Given the description of an element on the screen output the (x, y) to click on. 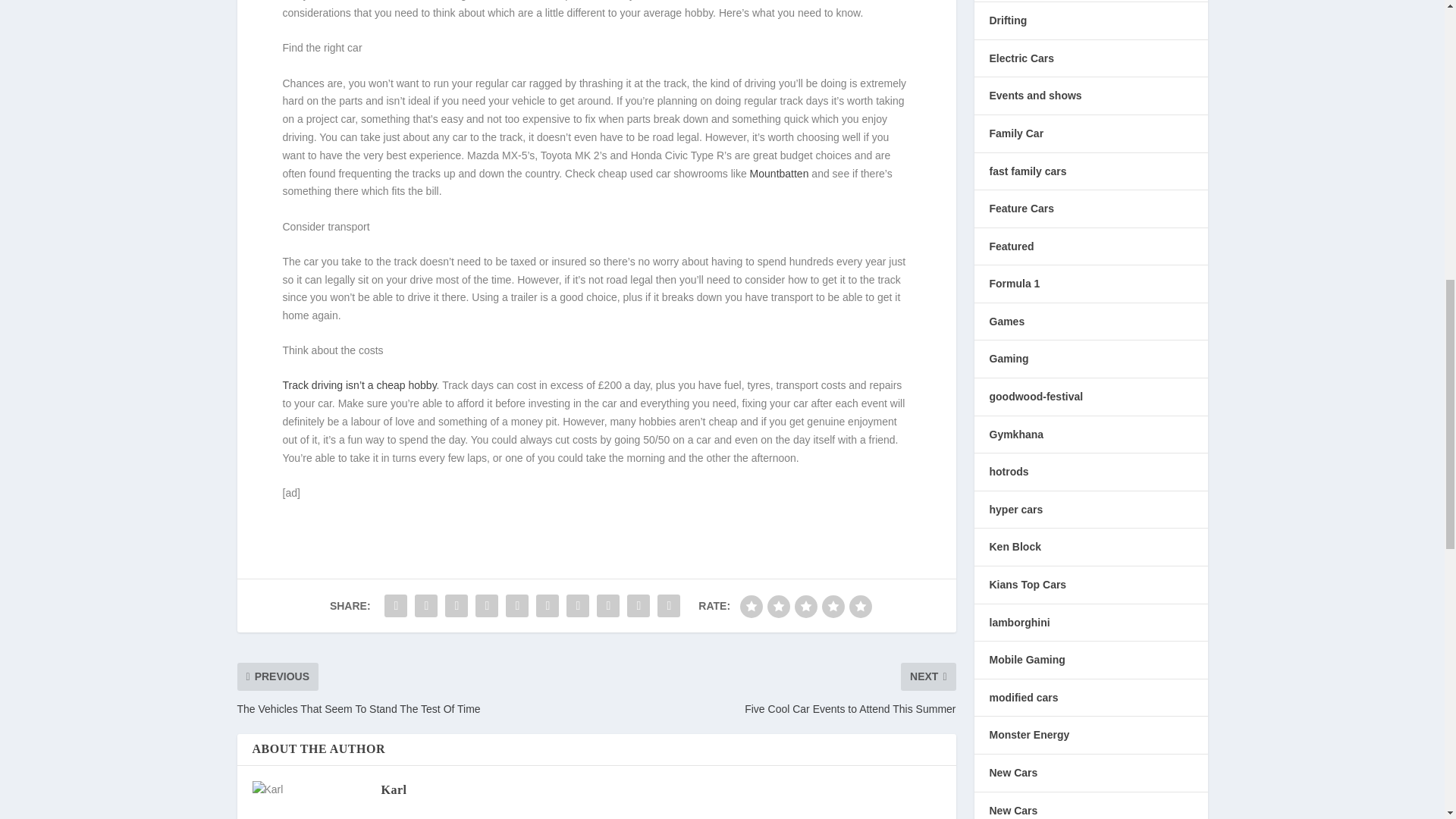
Karl (393, 789)
Mountbatten (779, 173)
bad (750, 606)
